Given the description of an element on the screen output the (x, y) to click on. 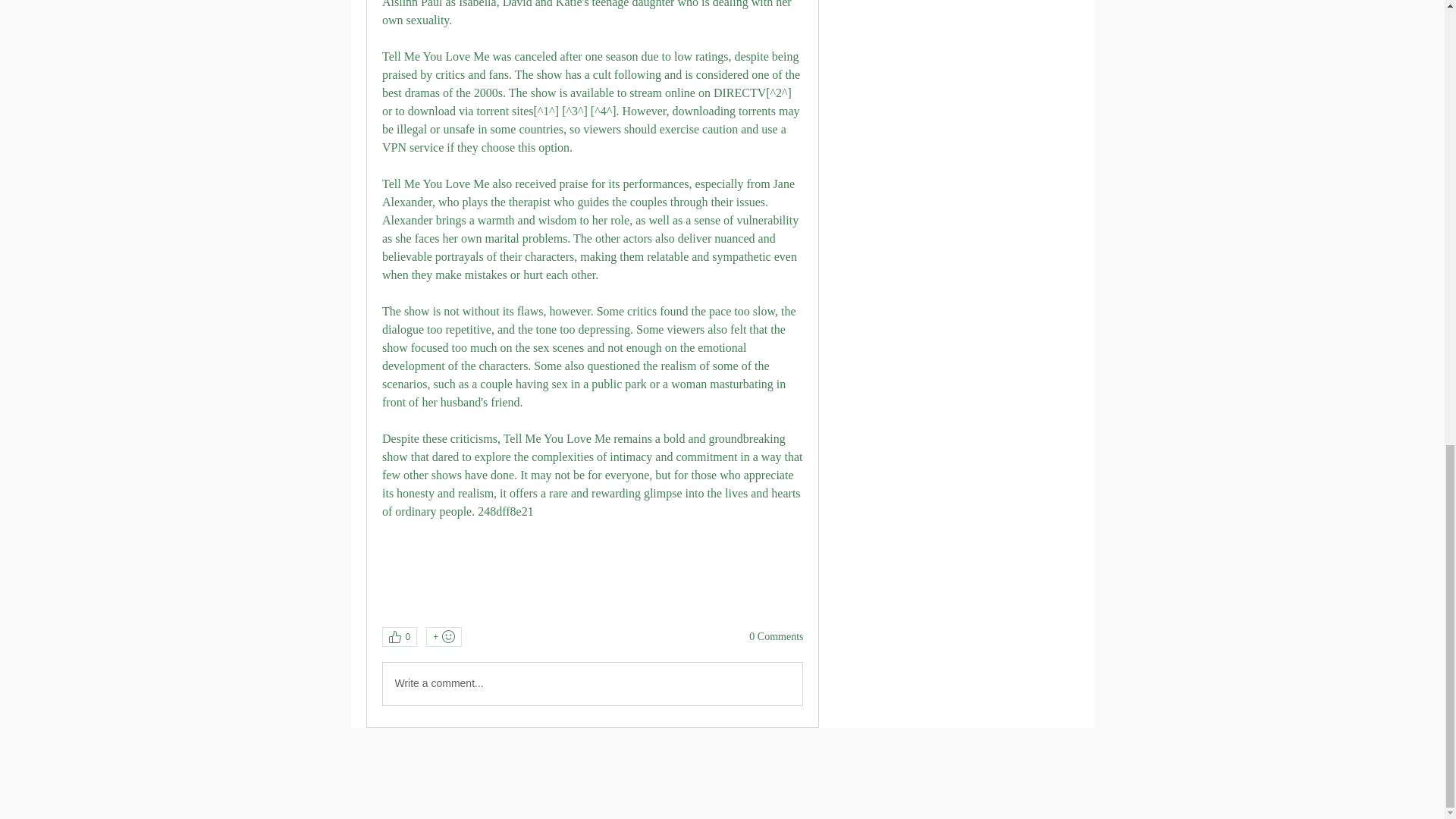
Write a comment... (591, 683)
0 Comments (776, 636)
